Given the description of an element on the screen output the (x, y) to click on. 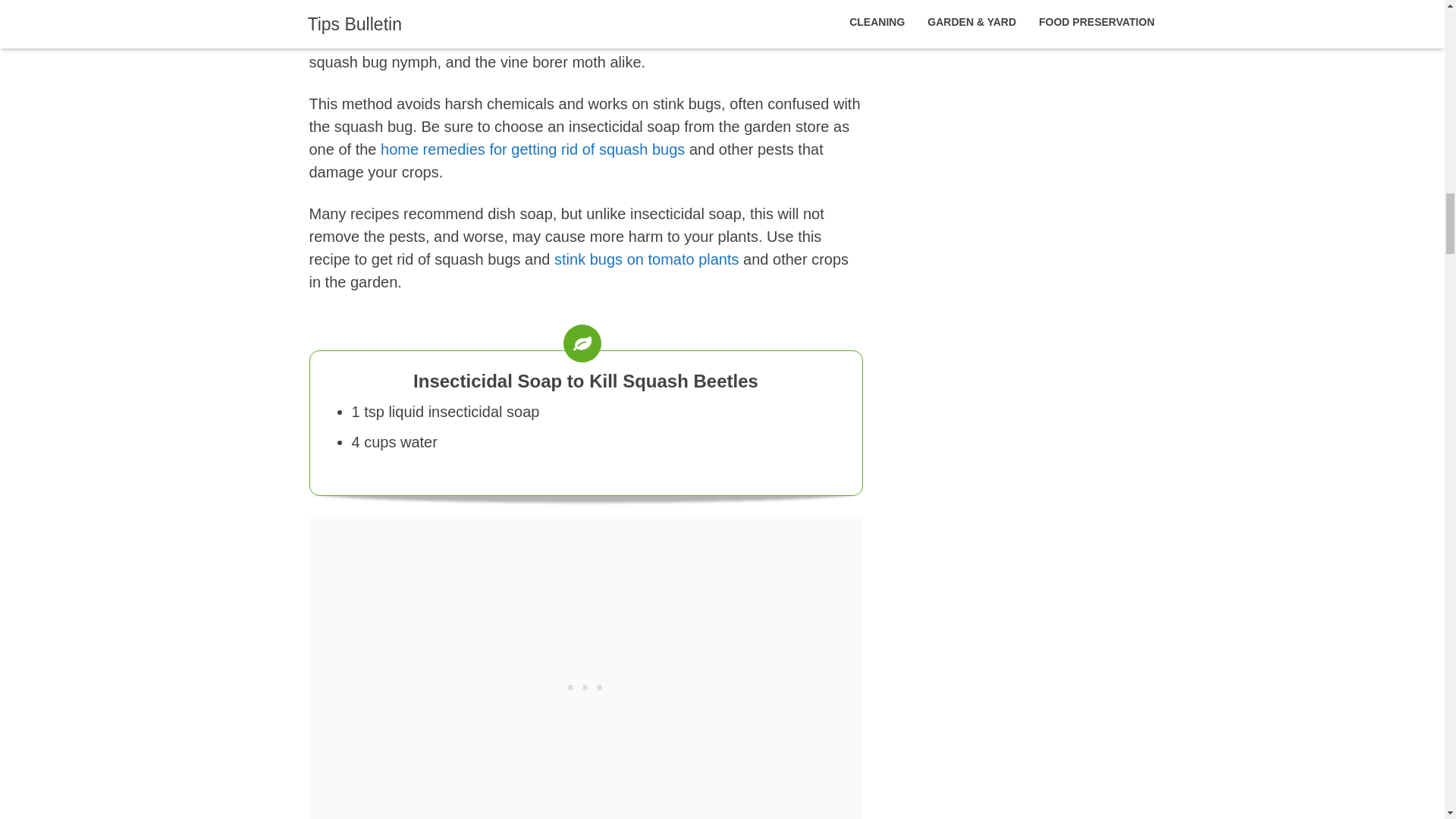
home remedies for getting rid of squash bugs (532, 149)
stink bugs on tomato plants (646, 258)
